Given the description of an element on the screen output the (x, y) to click on. 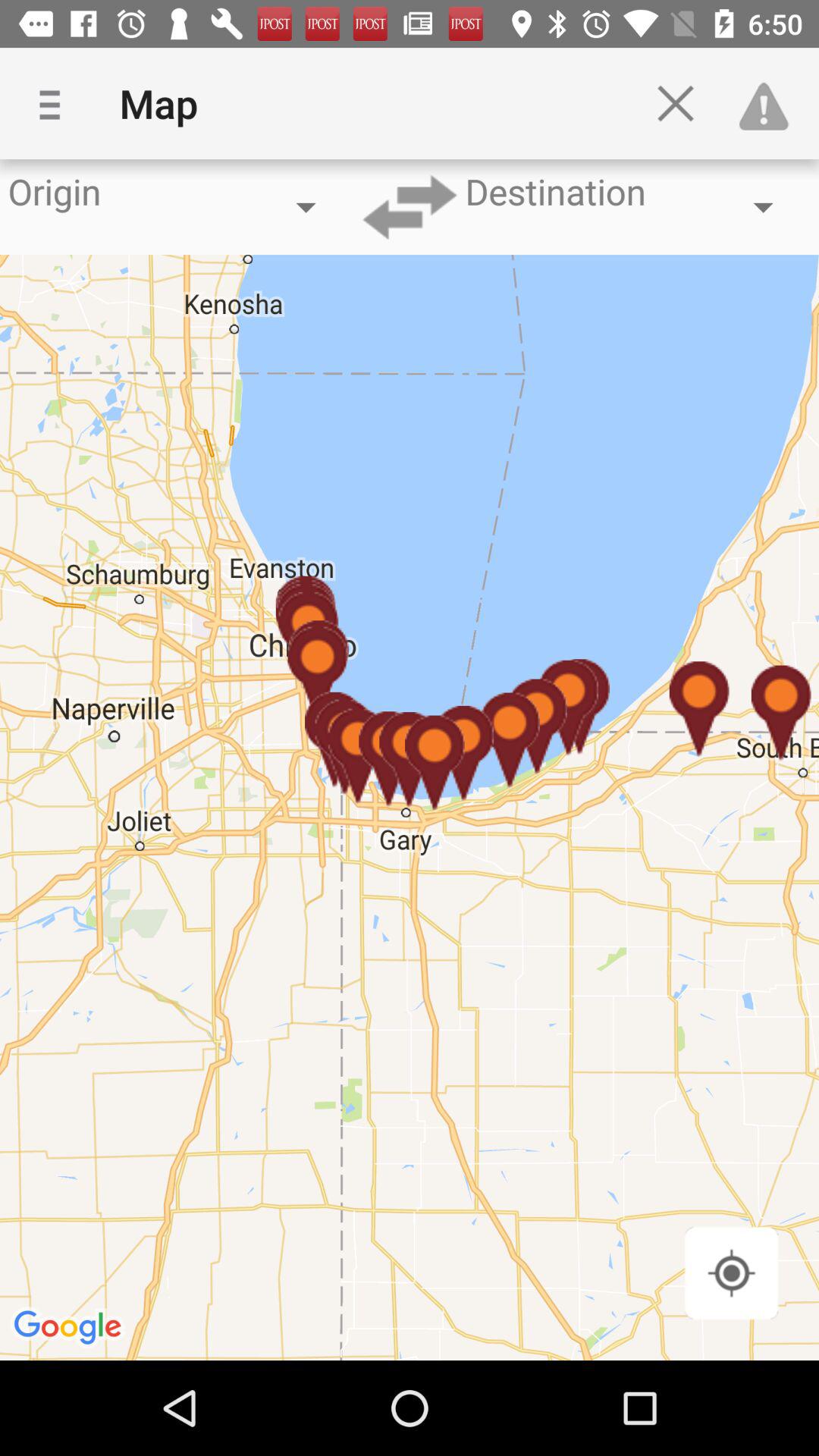
location part (731, 1272)
